Given the description of an element on the screen output the (x, y) to click on. 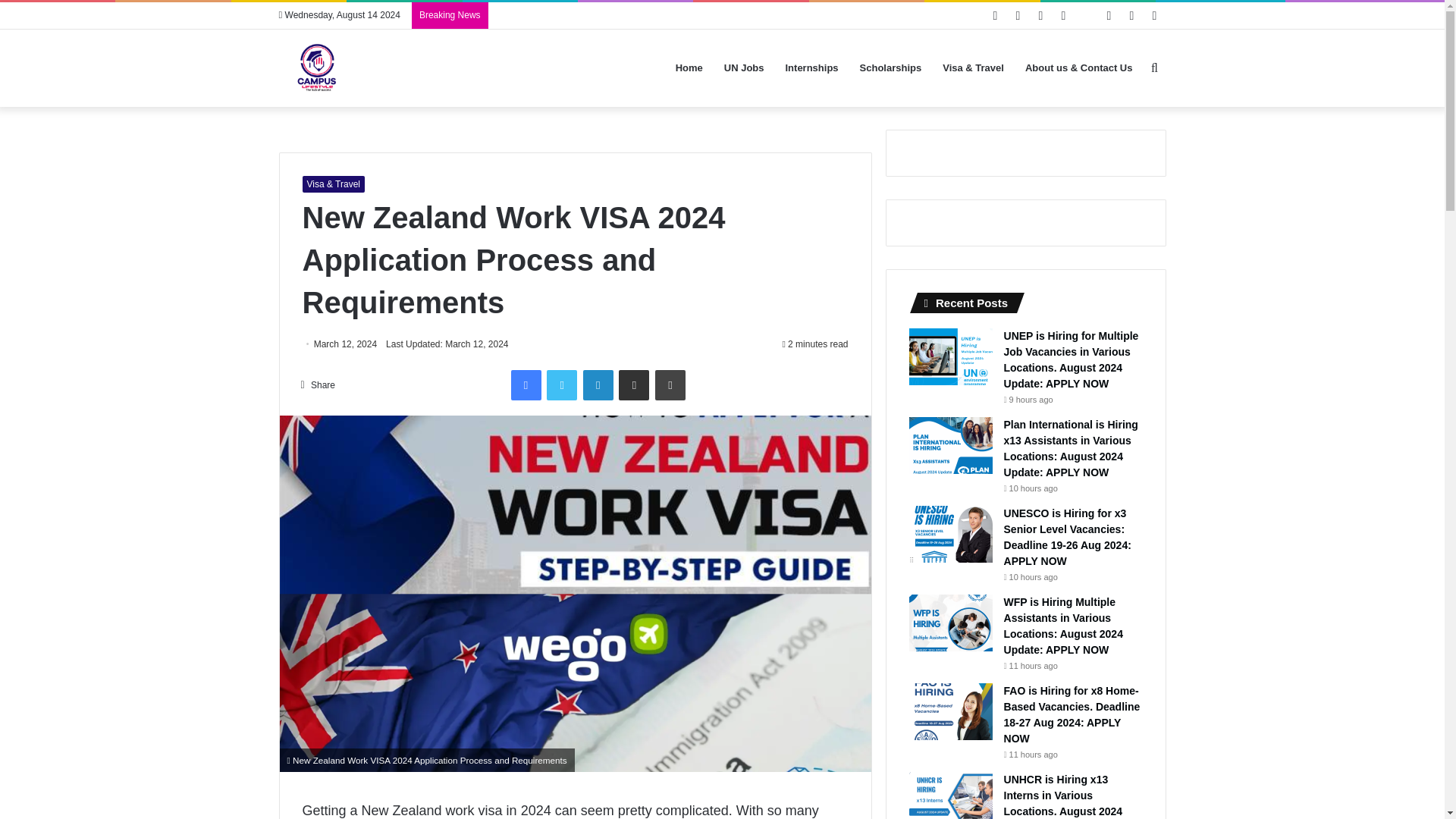
Share via Email (633, 385)
Print (670, 385)
LinkedIn (597, 385)
Twitter (561, 385)
Print (670, 385)
Campus lifestyle (317, 68)
Share via Email (633, 385)
Facebook (526, 385)
LinkedIn (597, 385)
Facebook (526, 385)
